Given the description of an element on the screen output the (x, y) to click on. 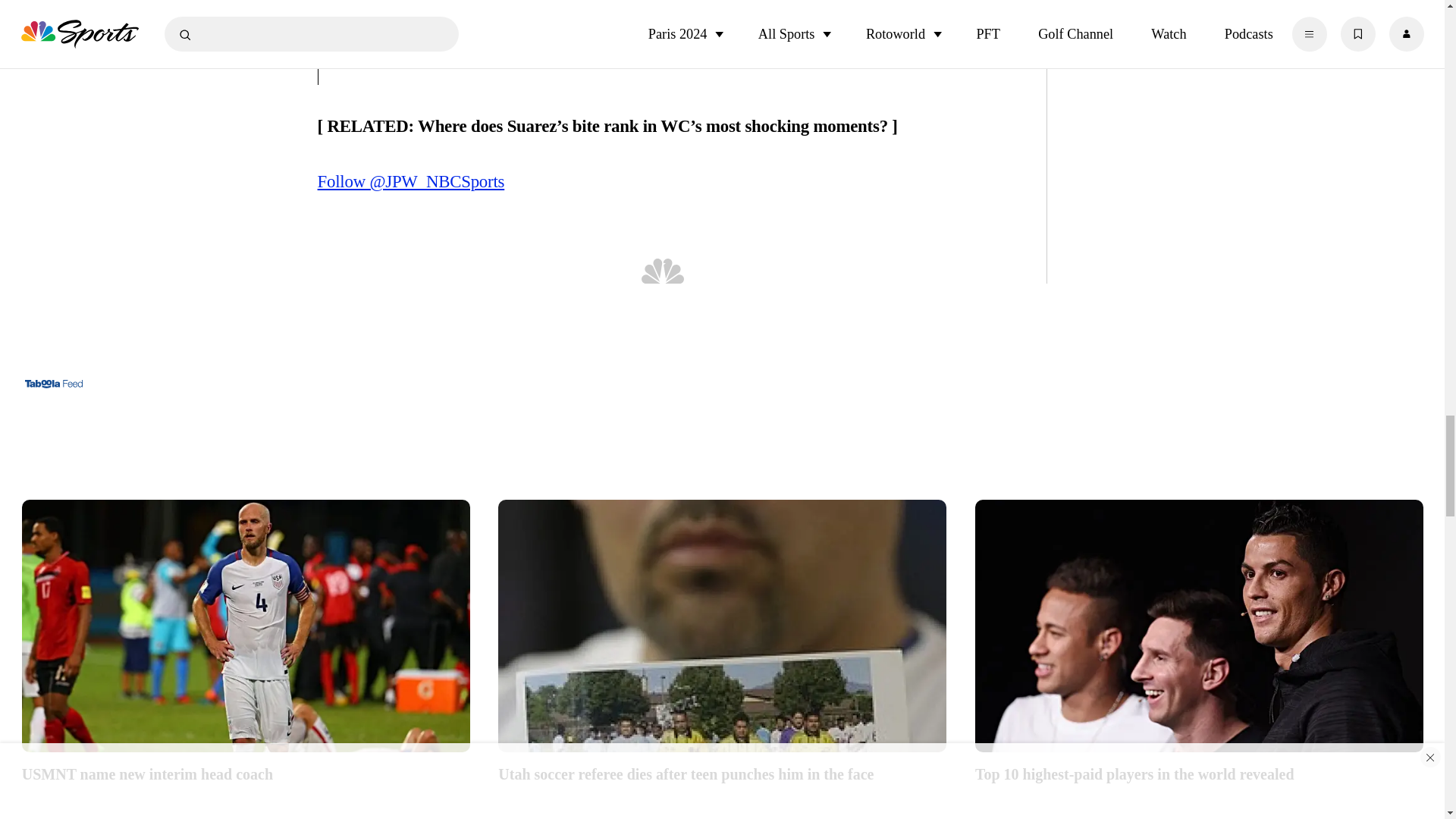
Utah soccer referee dies after teen punches him in the face (721, 772)
Utah soccer referee dies after teen punches him in the face (721, 625)
Top 10 highest-paid players in the world revealed (1199, 625)
USMNT name new interim head coach (245, 772)
Top 10 highest-paid players in the world revealed (1199, 772)
USMNT name new interim head coach (245, 625)
